Given the description of an element on the screen output the (x, y) to click on. 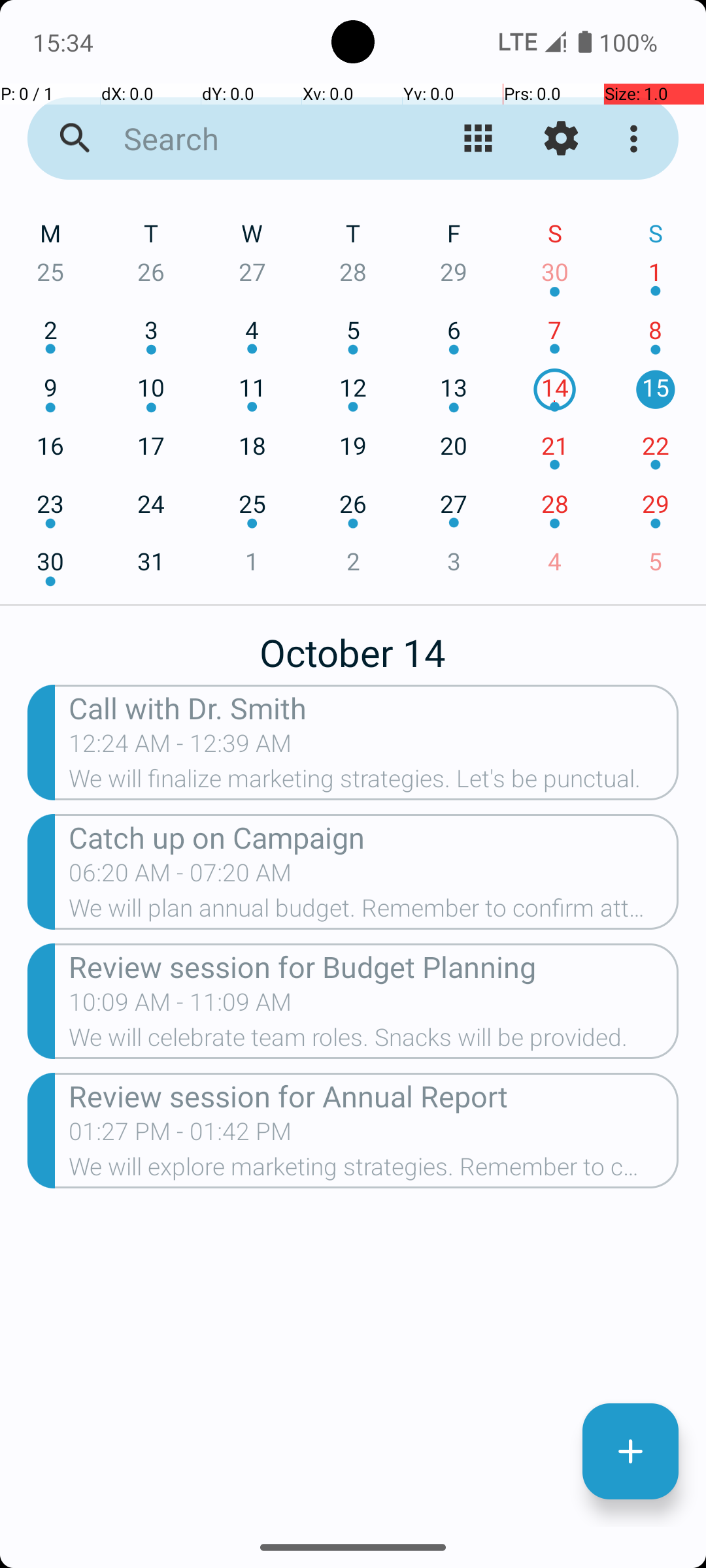
October 14 Element type: android.widget.TextView (352, 644)
12:24 AM - 12:39 AM Element type: android.widget.TextView (179, 747)
We will finalize marketing strategies. Let's be punctual. Element type: android.widget.TextView (373, 782)
06:20 AM - 07:20 AM Element type: android.widget.TextView (179, 876)
We will plan annual budget. Remember to confirm attendance. Element type: android.widget.TextView (373, 911)
10:09 AM - 11:09 AM Element type: android.widget.TextView (179, 1005)
We will celebrate team roles. Snacks will be provided. Element type: android.widget.TextView (373, 1041)
01:27 PM - 01:42 PM Element type: android.widget.TextView (179, 1135)
We will explore marketing strategies. Remember to confirm attendance. Element type: android.widget.TextView (373, 1170)
